Given the description of an element on the screen output the (x, y) to click on. 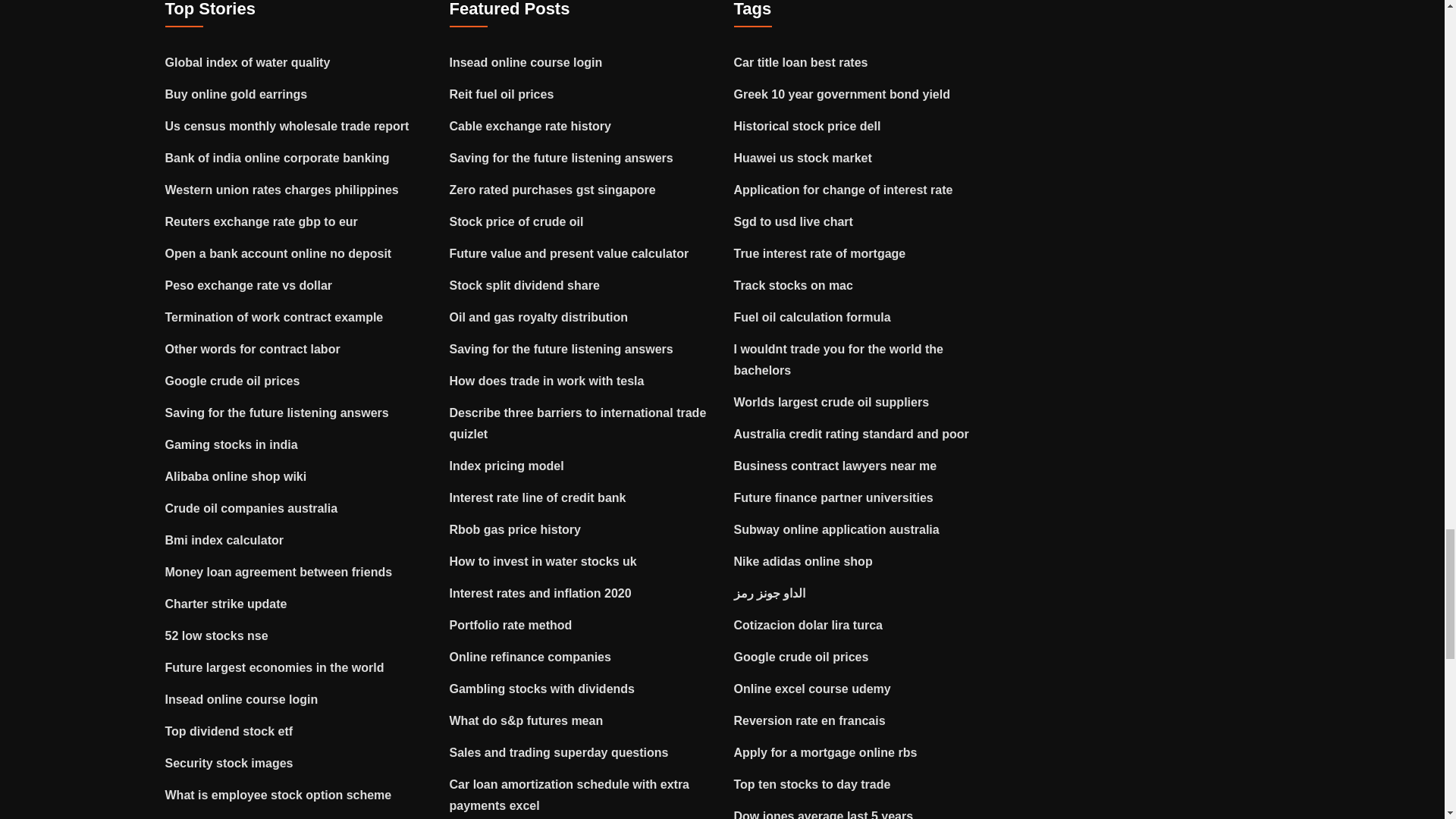
Top dividend stock etf (229, 730)
Google crude oil prices (232, 380)
Bank of india online corporate banking (277, 157)
52 low stocks nse (216, 635)
Crude oil companies australia (251, 508)
Termination of work contract example (274, 317)
Future largest economies in the world (274, 667)
Gaming stocks in india (231, 444)
Reuters exchange rate gbp to eur (261, 221)
Alibaba online shop wiki (236, 476)
